Given the description of an element on the screen output the (x, y) to click on. 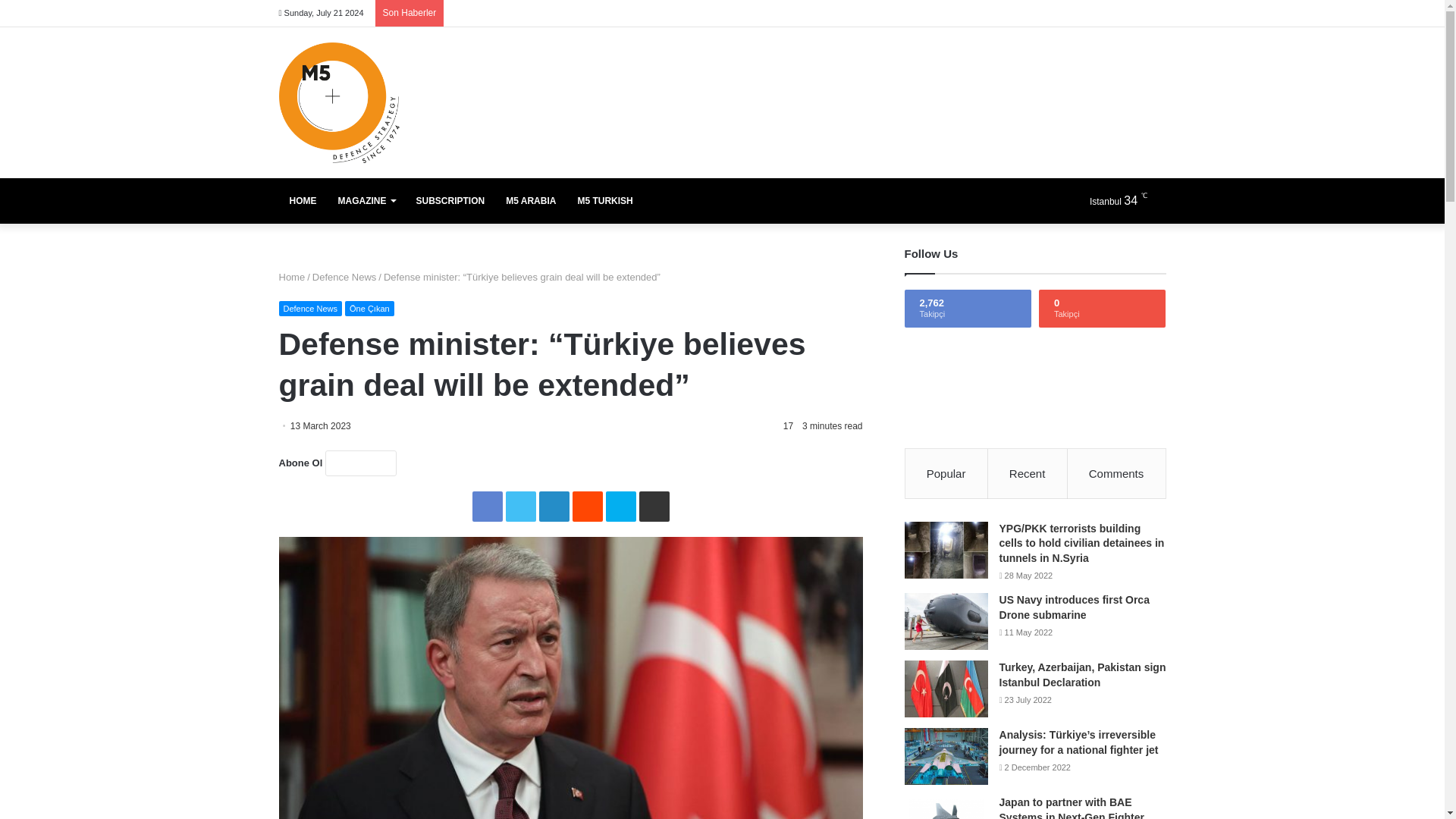
HOME (303, 200)
Defence News (310, 308)
Twitter (520, 506)
Facebook (486, 506)
Home (292, 276)
M5 TURKISH (604, 200)
Skype (619, 506)
Abone Ol (360, 462)
Reddit (587, 506)
M5 ARABIA (530, 200)
Share via Email (653, 506)
Defence News (345, 276)
Clear Sky (1125, 199)
SUBSCRIPTION (449, 200)
M5 Dergi (338, 102)
